Given the description of an element on the screen output the (x, y) to click on. 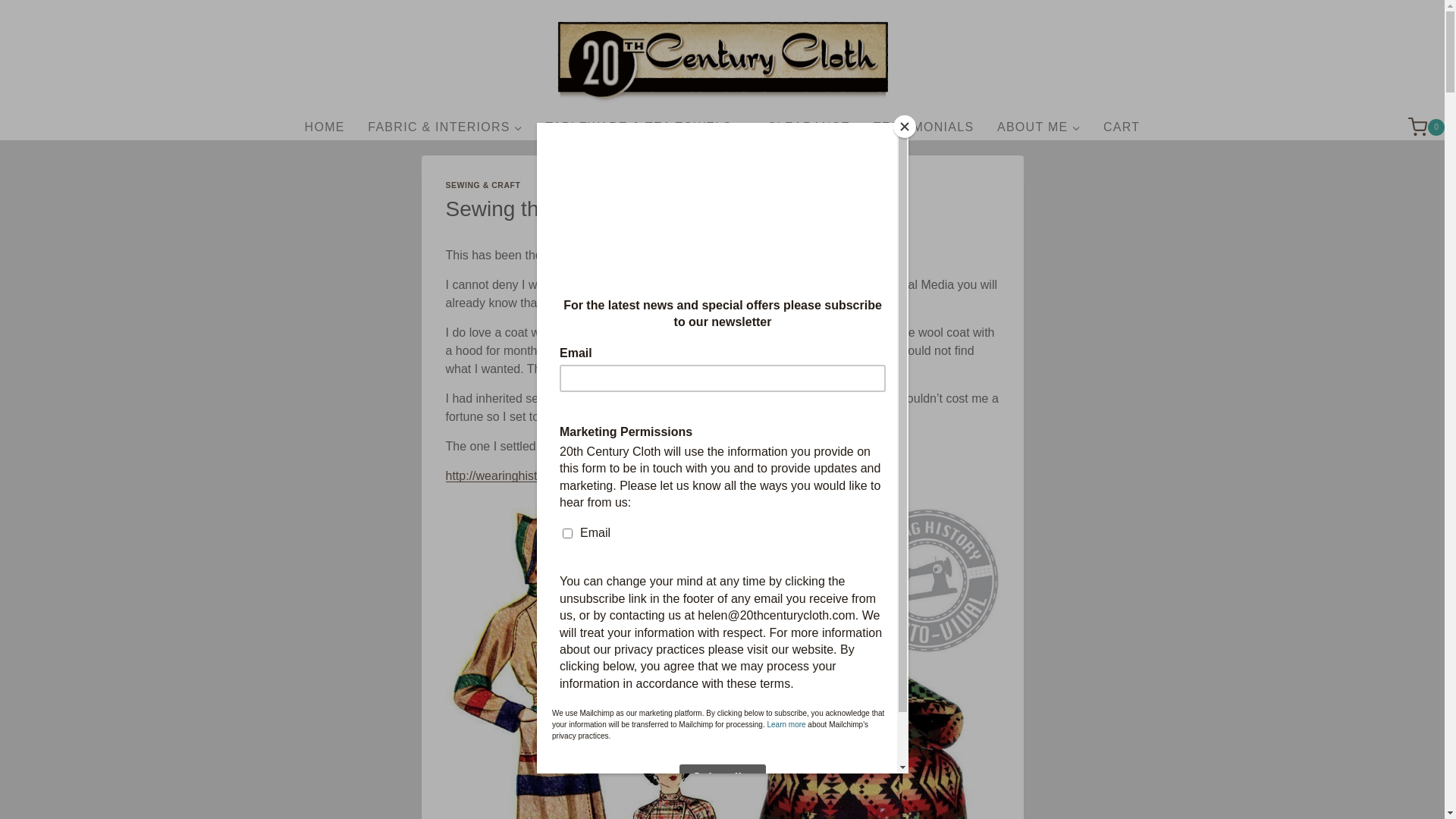
HOME Element type: text (324, 127)
CLEARANCE Element type: text (809, 127)
TESTIMONIALS Element type: text (923, 127)
http://wearinghistory.clothing/1930s-blanket-coat-pattern/ Element type: text (597, 475)
CART Element type: text (1121, 127)
FABRIC & INTERIORS Element type: text (444, 127)
SEWING & CRAFT Element type: text (482, 184)
TABLEWARE & TEA TOWELS Element type: text (644, 127)
0 Element type: text (1426, 126)
ABOUT ME Element type: text (1038, 127)
